Given the description of an element on the screen output the (x, y) to click on. 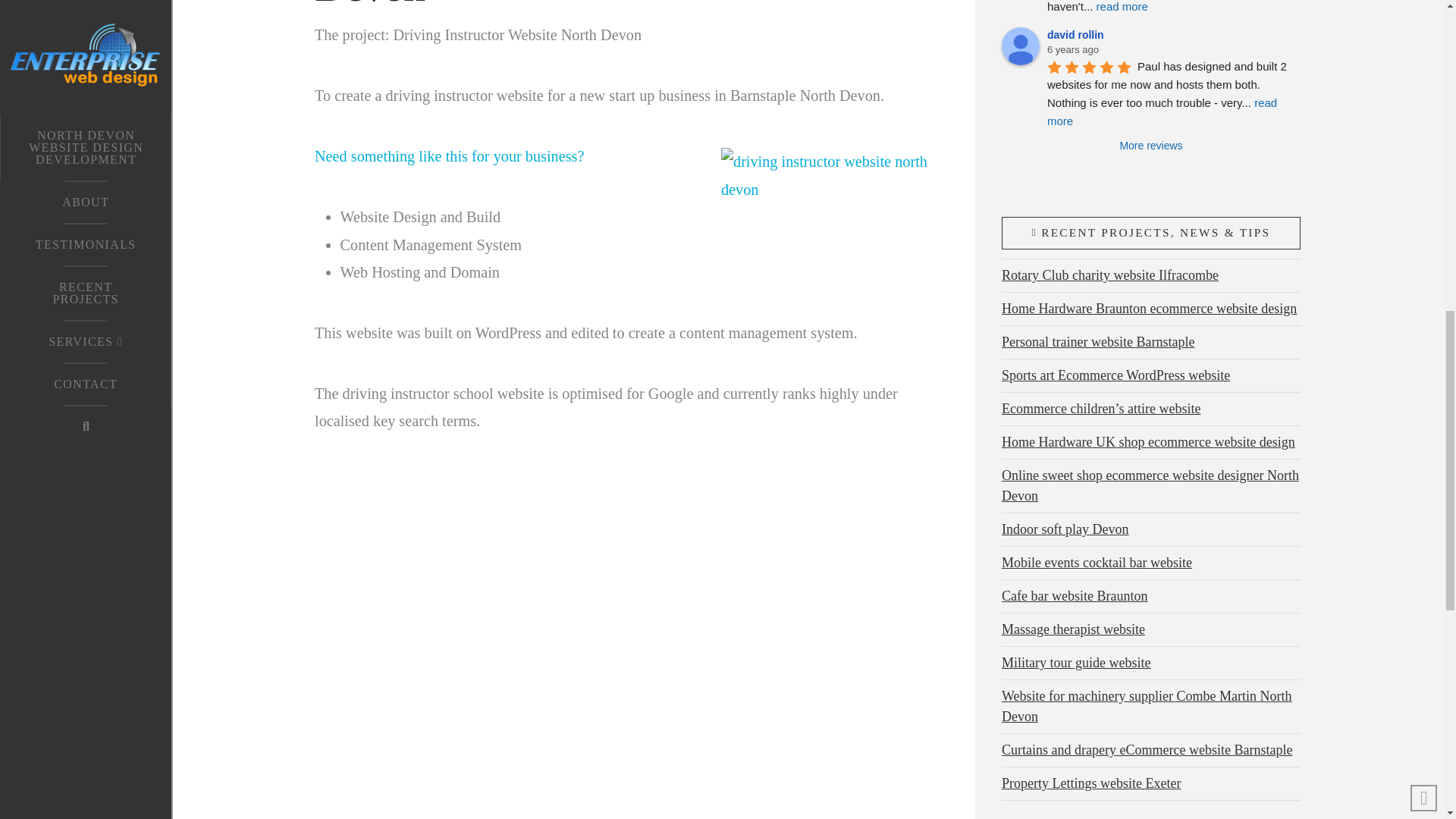
driving instructor website north devon (834, 209)
david rollin (1020, 46)
